Given the description of an element on the screen output the (x, y) to click on. 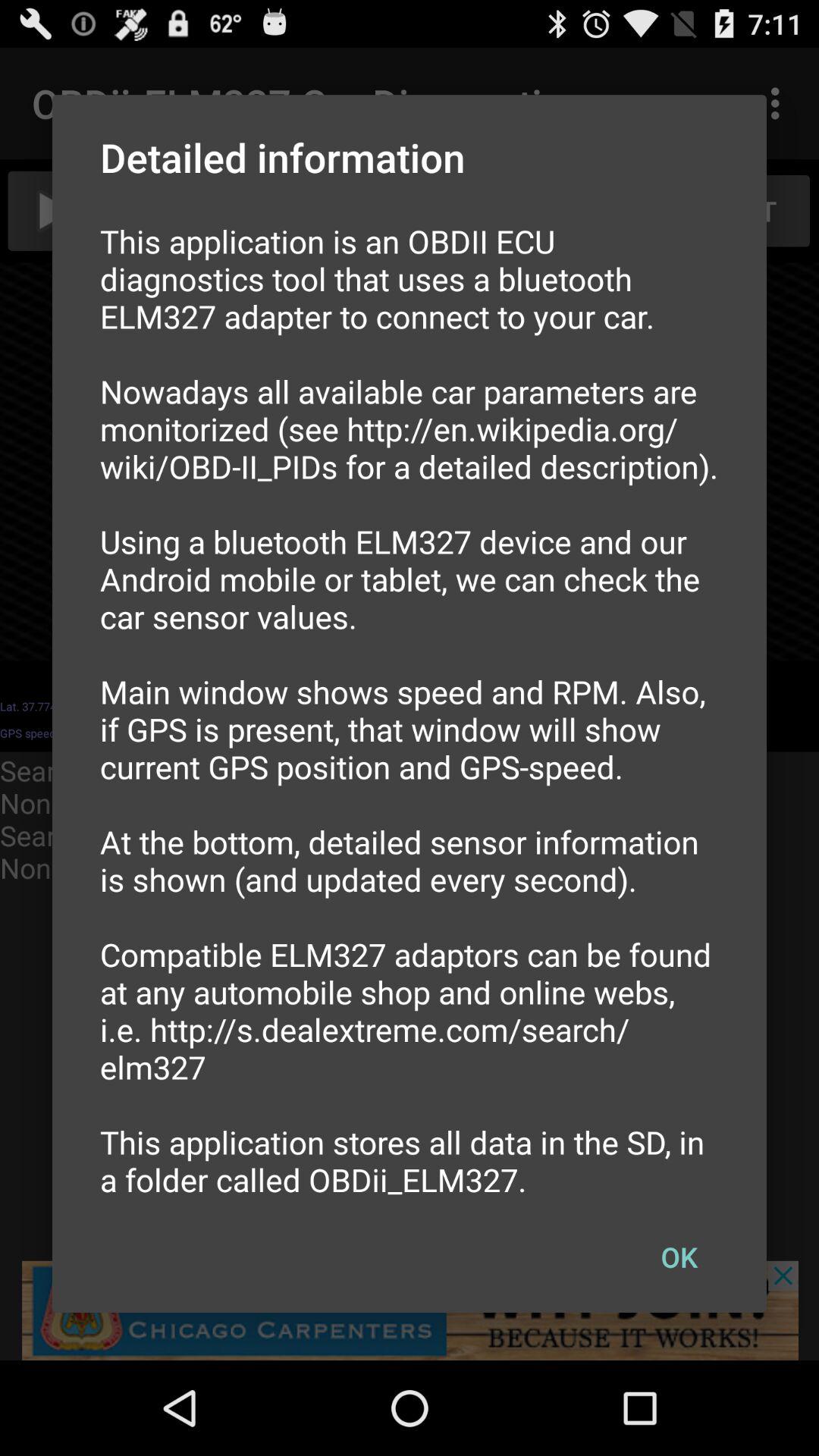
choose the button at the bottom right corner (678, 1256)
